Given the description of an element on the screen output the (x, y) to click on. 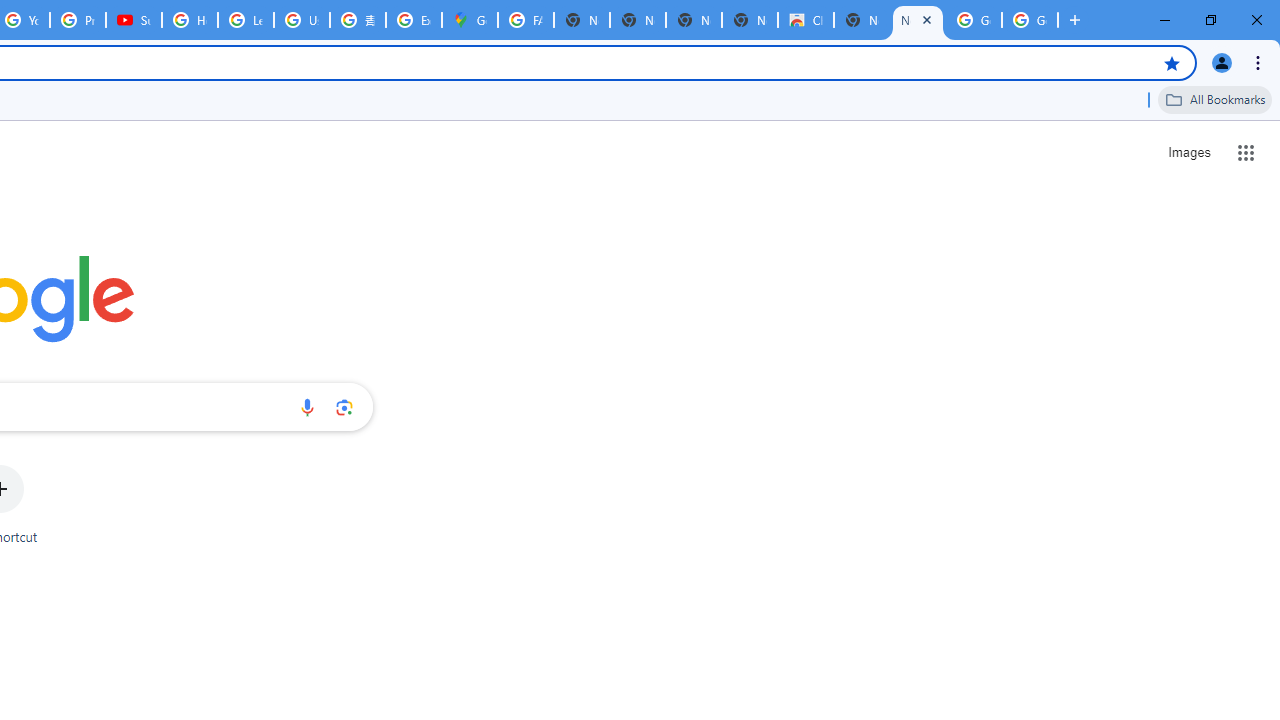
Google Images (1030, 20)
Google Images (973, 20)
How Chrome protects your passwords - Google Chrome Help (189, 20)
